Given the description of an element on the screen output the (x, y) to click on. 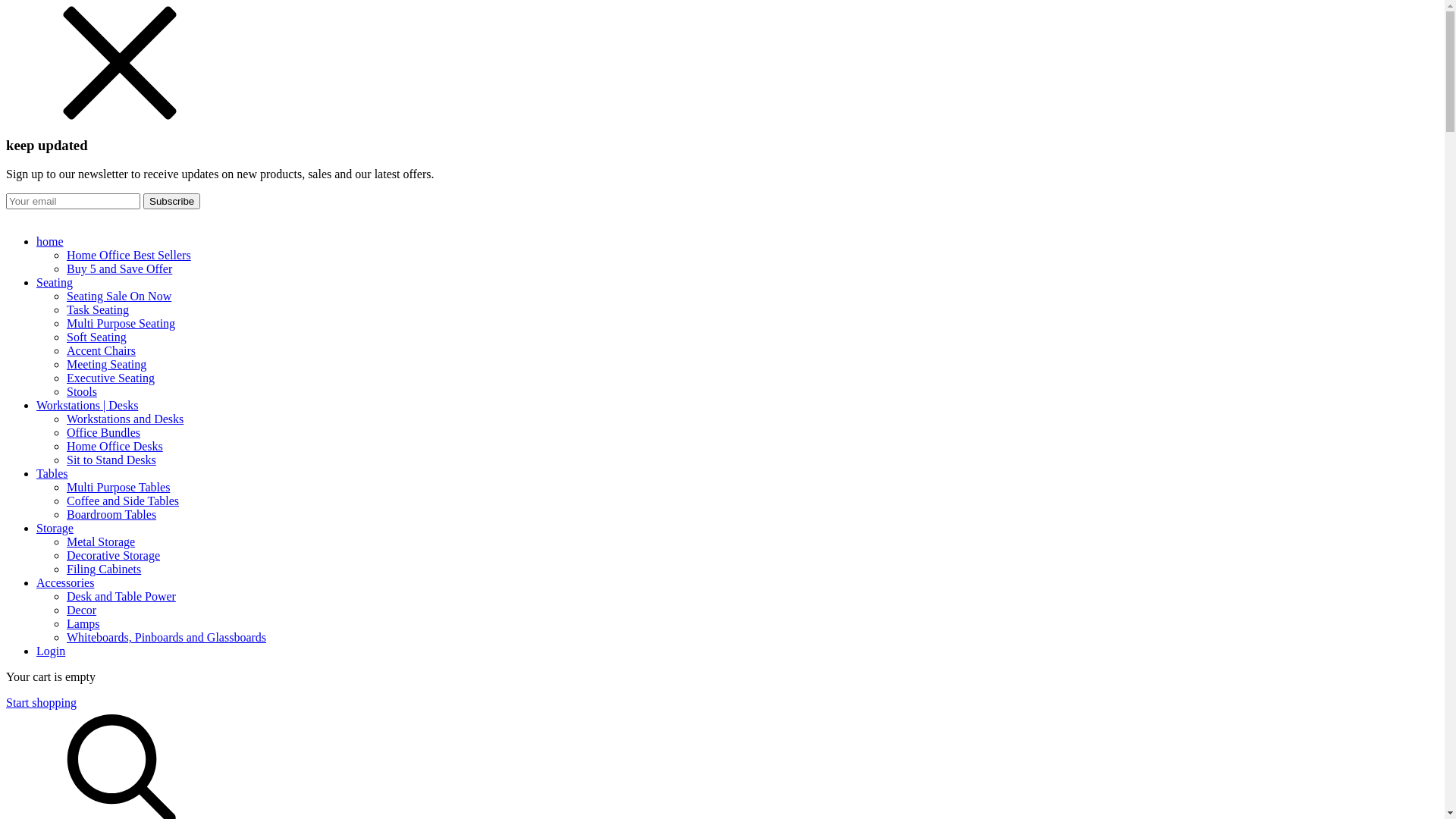
Decor Element type: text (81, 609)
Sit to Stand Desks Element type: text (111, 459)
home Element type: text (737, 241)
Storage Element type: text (737, 528)
Home Office Best Sellers Element type: text (128, 254)
Seating Sale On Now Element type: text (118, 295)
Executive Seating Element type: text (110, 377)
Metal Storage Element type: text (100, 541)
Tables Element type: text (737, 473)
Soft Seating Element type: text (96, 336)
Home Office Desks Element type: text (114, 445)
Login Element type: text (50, 650)
Workstations and Desks Element type: text (124, 418)
Decorative Storage Element type: text (113, 555)
Boardroom Tables Element type: text (111, 514)
Multi Purpose Tables Element type: text (117, 486)
Multi Purpose Seating Element type: text (120, 322)
Buy 5 and Save Offer Element type: text (119, 268)
Accent Chairs Element type: text (100, 350)
Lamps Element type: text (83, 623)
Task Seating Element type: text (97, 309)
Whiteboards, Pinboards and Glassboards Element type: text (166, 636)
Filing Cabinets Element type: text (103, 568)
FOR ALL YOUR TASK CHAIR NEEDS Element type: text (722, 215)
Coffee and Side Tables Element type: text (122, 500)
Meeting Seating Element type: text (106, 363)
Workstations | Desks Element type: text (737, 405)
Accessories Element type: text (737, 582)
Subscribe Element type: text (171, 201)
Seating Element type: text (737, 282)
Stools Element type: text (81, 391)
Start shopping Element type: text (41, 702)
Office Bundles Element type: text (103, 432)
Desk and Table Power Element type: text (120, 595)
